Given the description of an element on the screen output the (x, y) to click on. 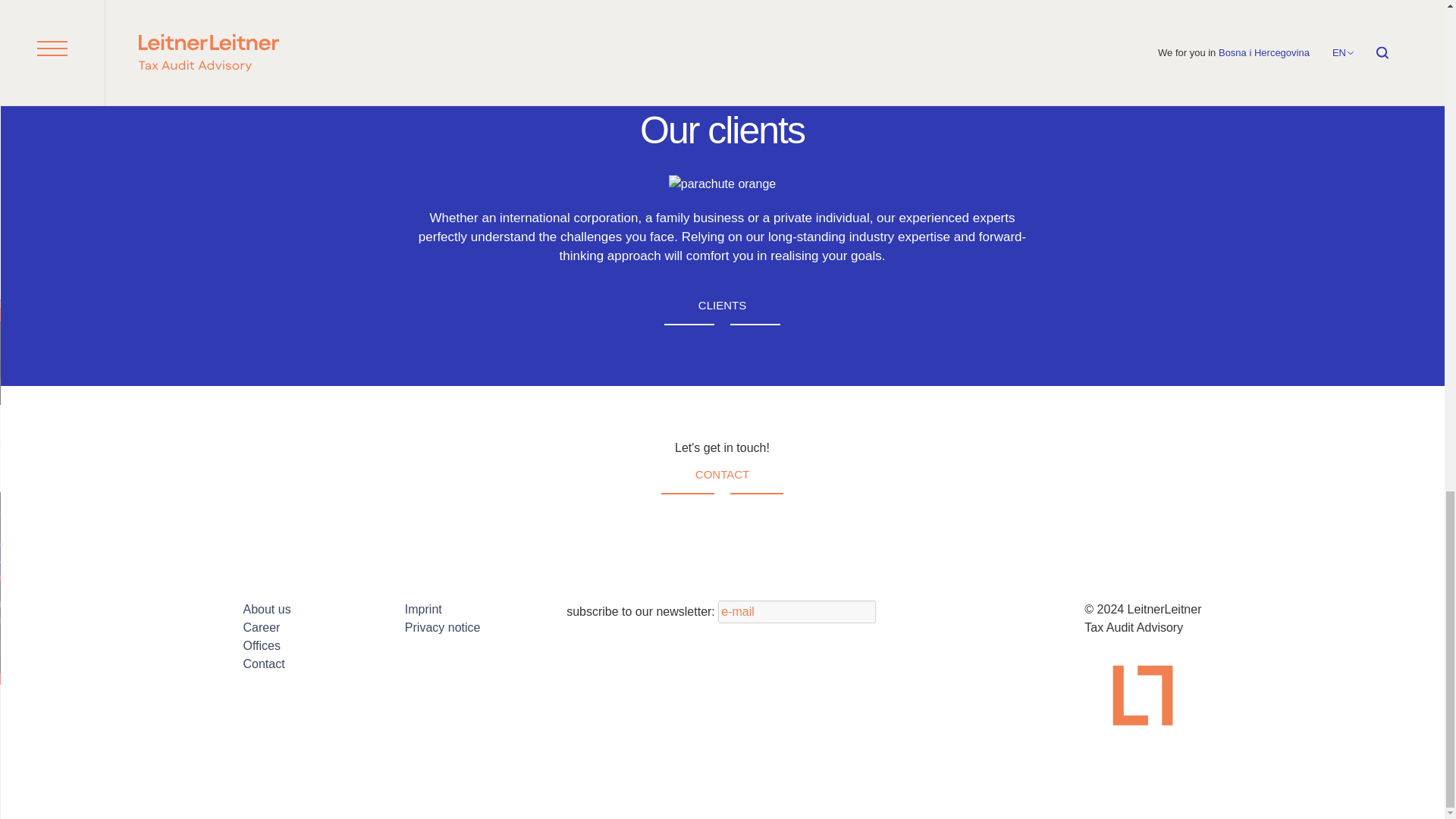
Contact (722, 475)
Clients (721, 306)
